Given the description of an element on the screen output the (x, y) to click on. 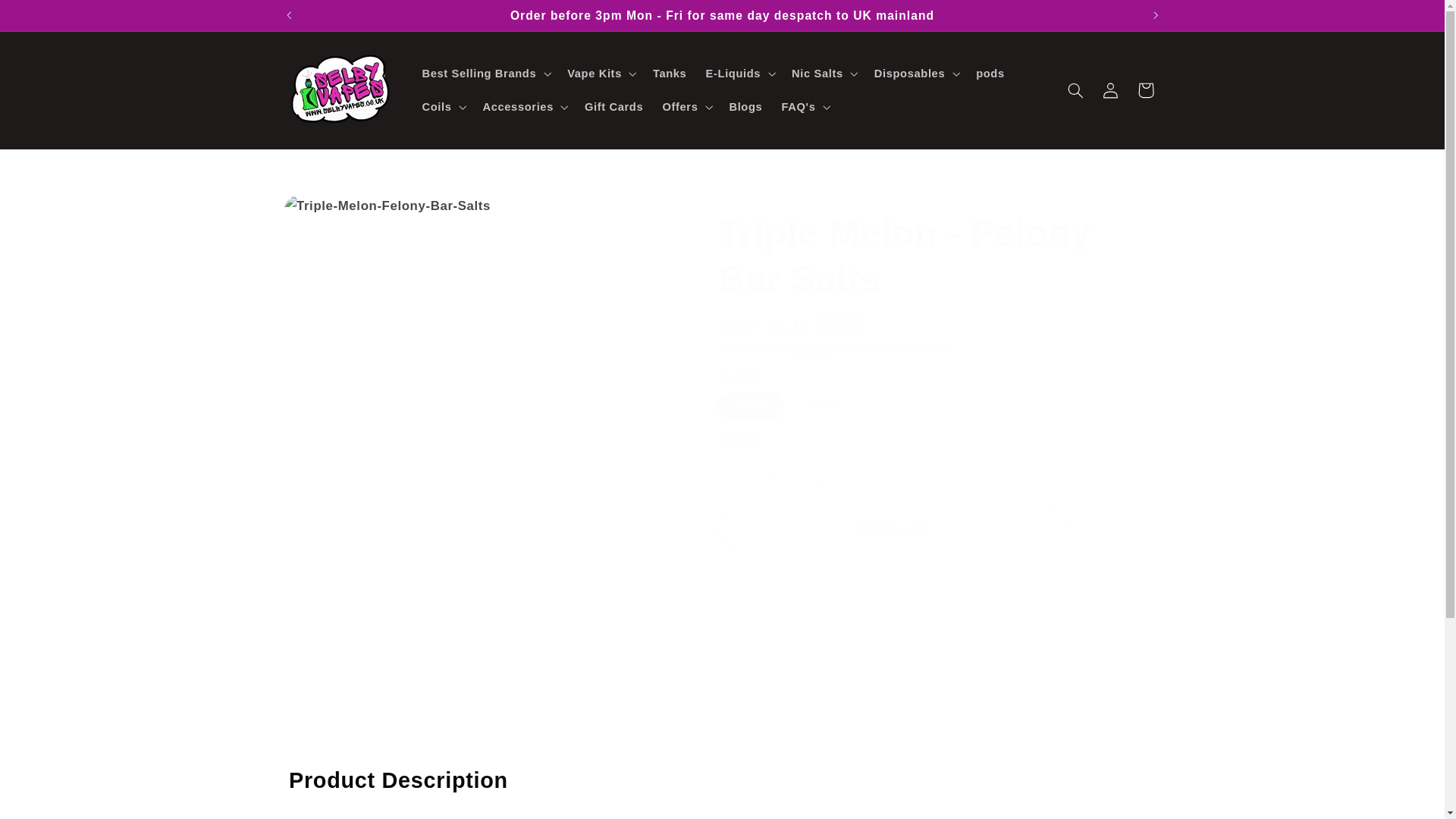
1 (771, 471)
Skip to content (48, 18)
